Given the description of an element on the screen output the (x, y) to click on. 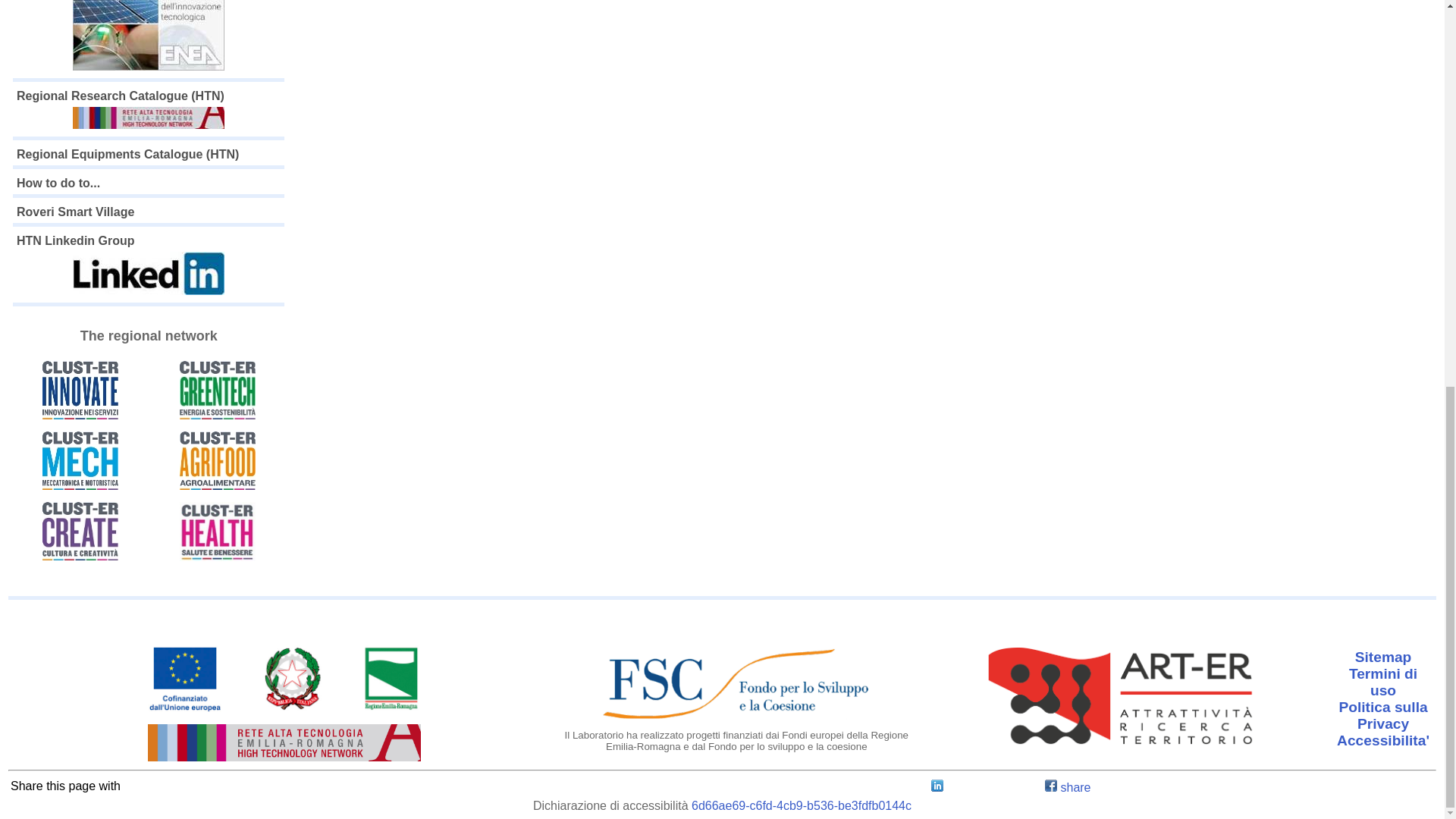
Roveri Smart Village (74, 211)
How to do to... (58, 182)
Technological Innovation ATLAS of ENEA (148, 37)
HTN Linkedin Group (148, 266)
